Given the description of an element on the screen output the (x, y) to click on. 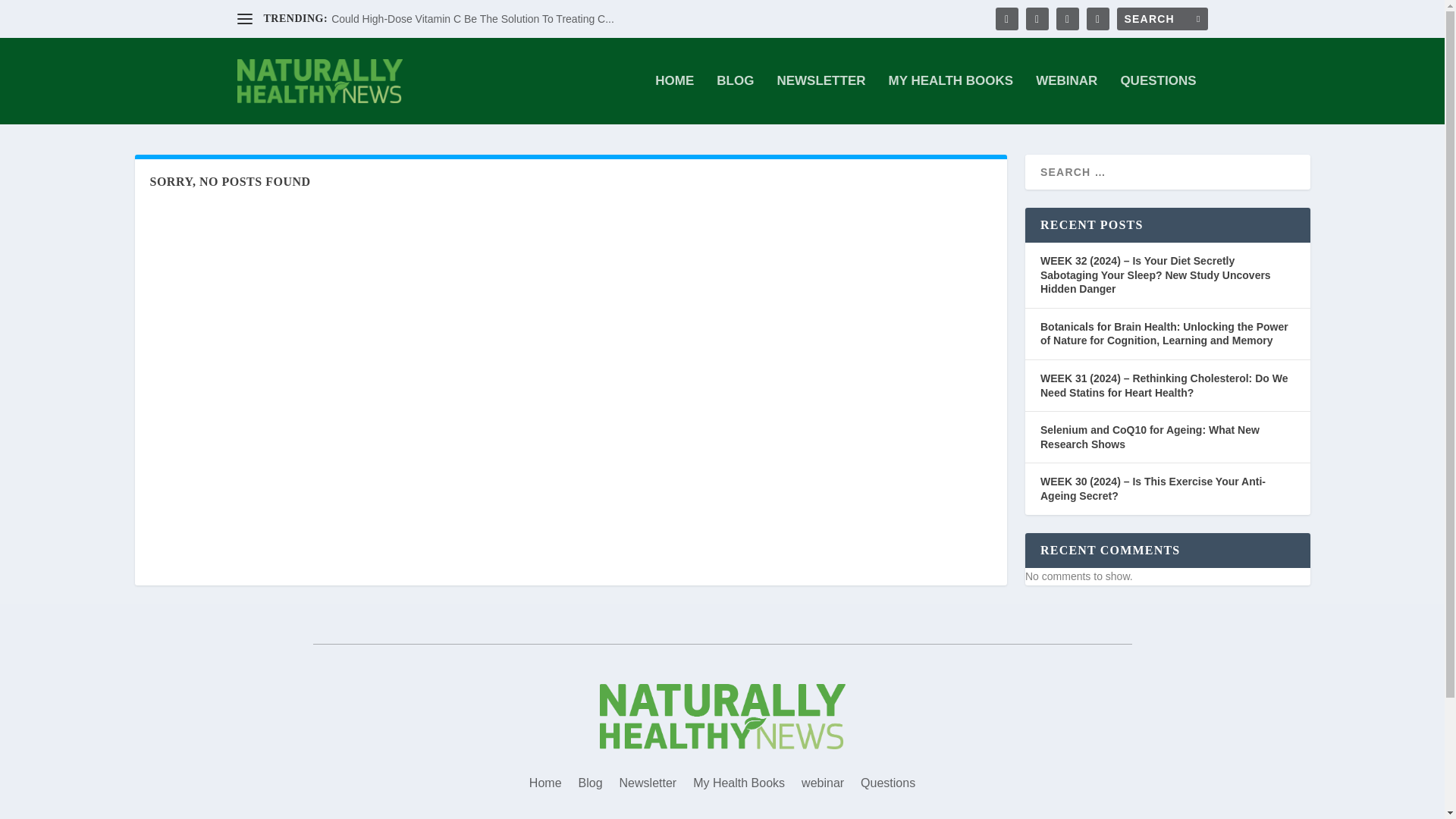
NEWSLETTER (820, 99)
Search for: (1161, 18)
MY HEALTH BOOKS (950, 99)
Selenium and CoQ10 for Ageing: What New Research Shows (1150, 437)
webinar (823, 786)
WEBINAR (1066, 99)
Blog (590, 786)
Newsletter (648, 786)
QUESTIONS (1157, 99)
Questions (887, 786)
